Given the description of an element on the screen output the (x, y) to click on. 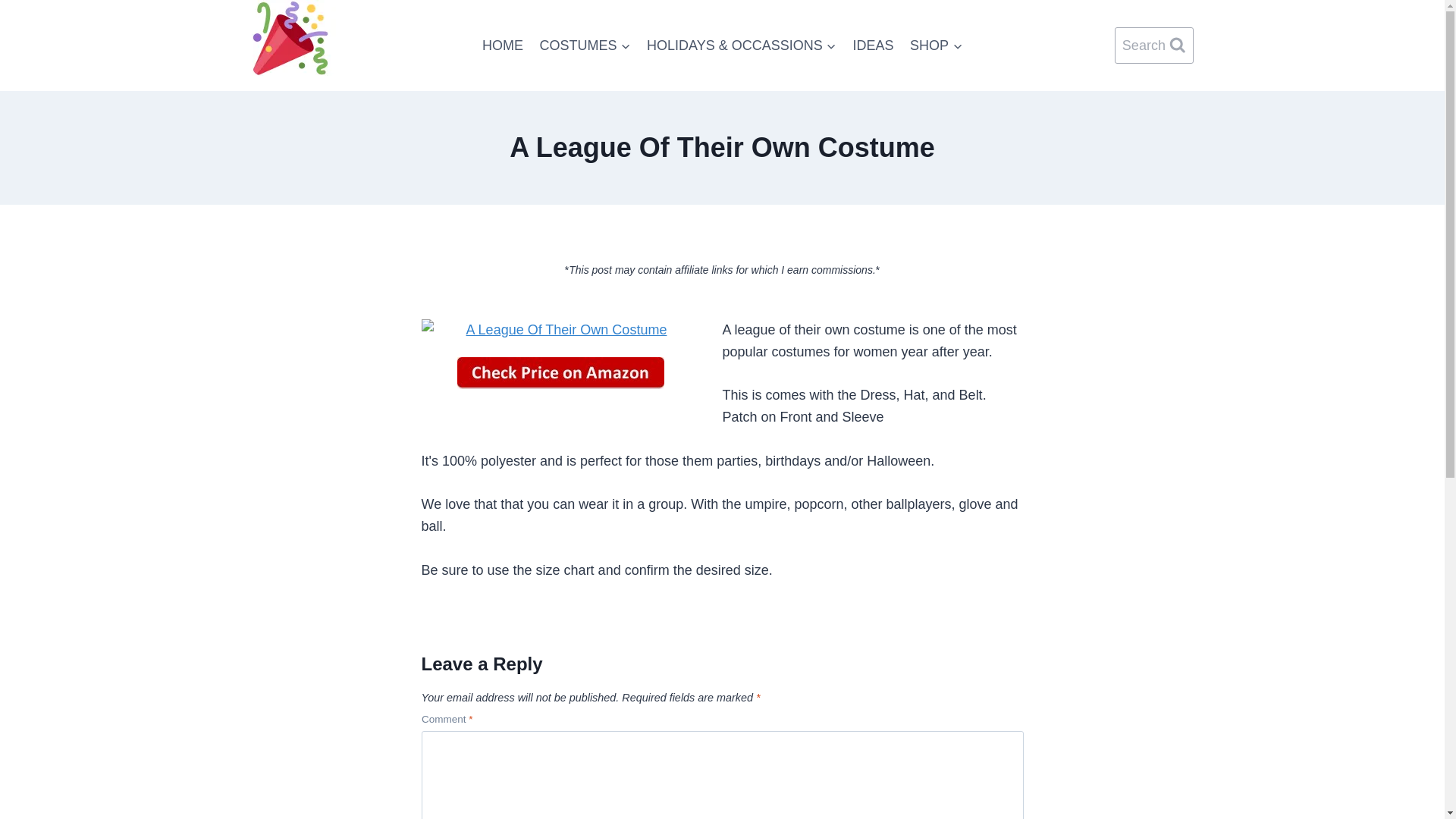
HOME (502, 45)
SHOP (936, 45)
COSTUMES (585, 45)
Search (1154, 45)
IDEAS (873, 45)
